Given the description of an element on the screen output the (x, y) to click on. 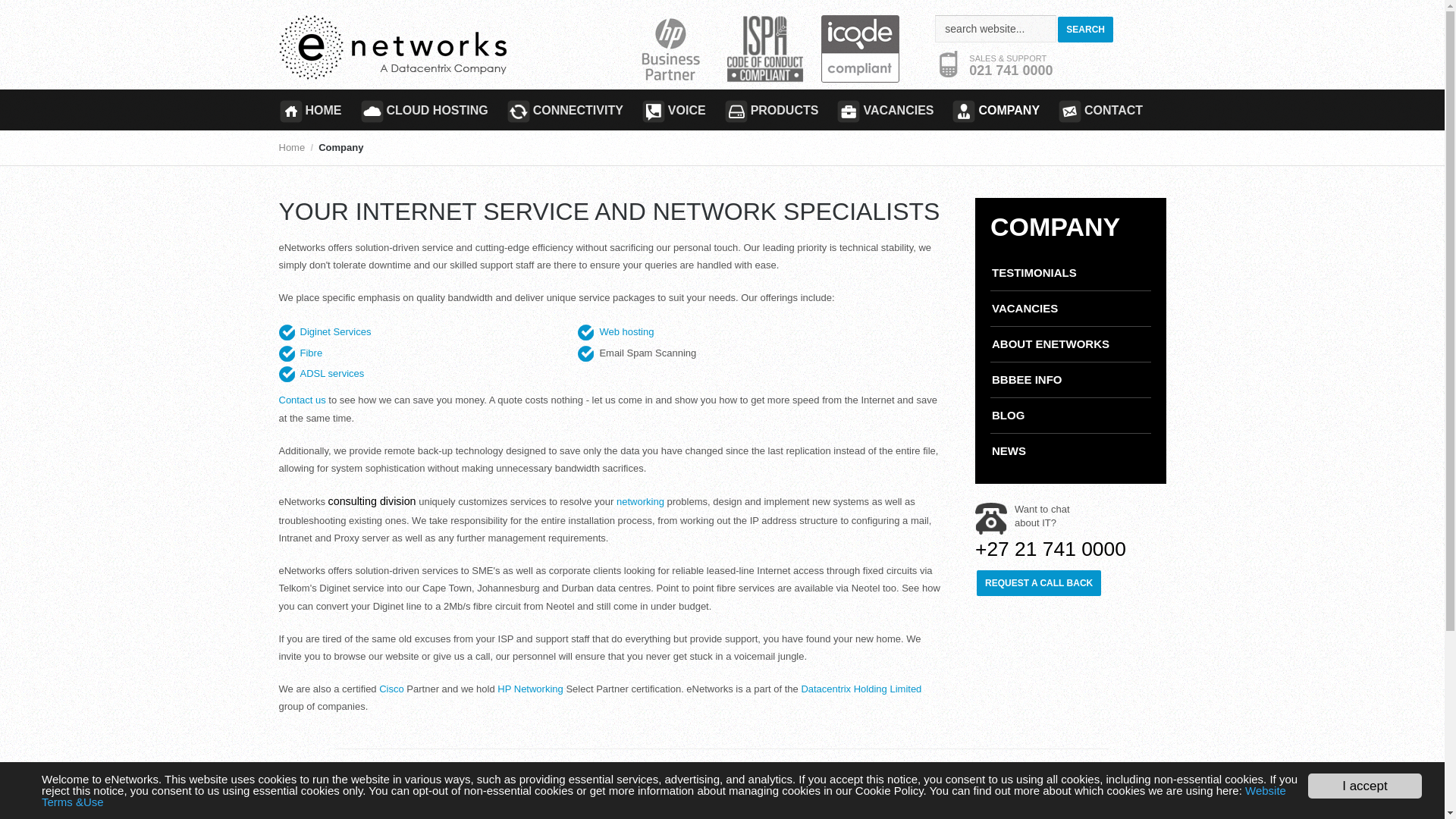
Diginet Services (335, 331)
CLOUD HOSTING (423, 109)
Home (292, 147)
Cisco Systems, Inc (391, 688)
Hewlett Packard Preferred Partner  (639, 501)
CONNECTIVITY (564, 109)
PRODUCTS (771, 109)
VOICE (672, 109)
HOME (314, 109)
Click here to read about eNetworks web hosting facilities (625, 331)
VACANCIES (884, 109)
Search (1085, 29)
search website... (995, 28)
CONTACT (1099, 109)
Search (1085, 29)
